Given the description of an element on the screen output the (x, y) to click on. 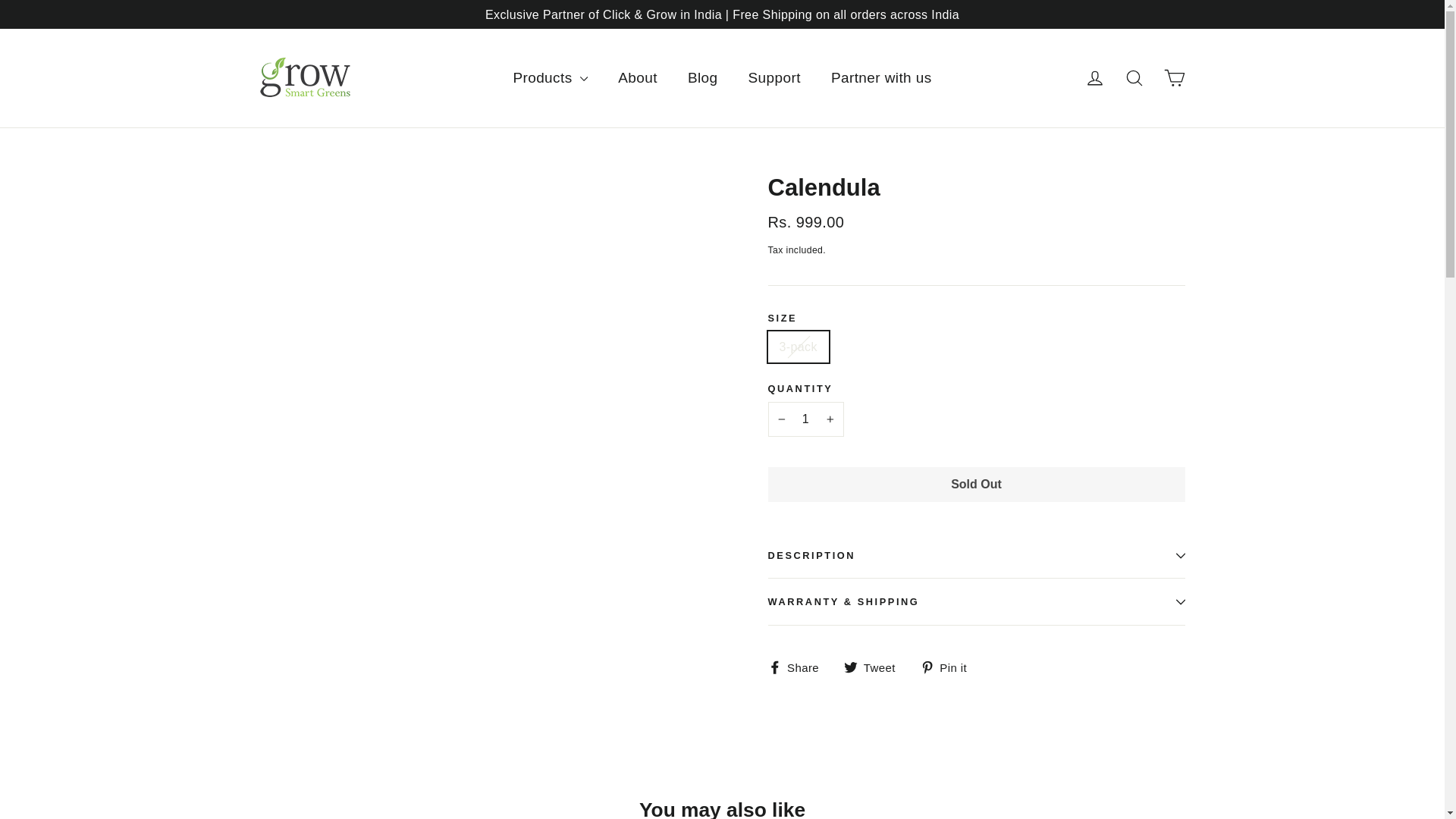
Log in (1095, 77)
Pin on Pinterest (949, 666)
About (637, 77)
Partner with us (881, 77)
Support (774, 77)
Products (549, 77)
Cart (1173, 77)
Tweet on Twitter (875, 666)
Share on Facebook (798, 666)
Blog (702, 77)
